Given the description of an element on the screen output the (x, y) to click on. 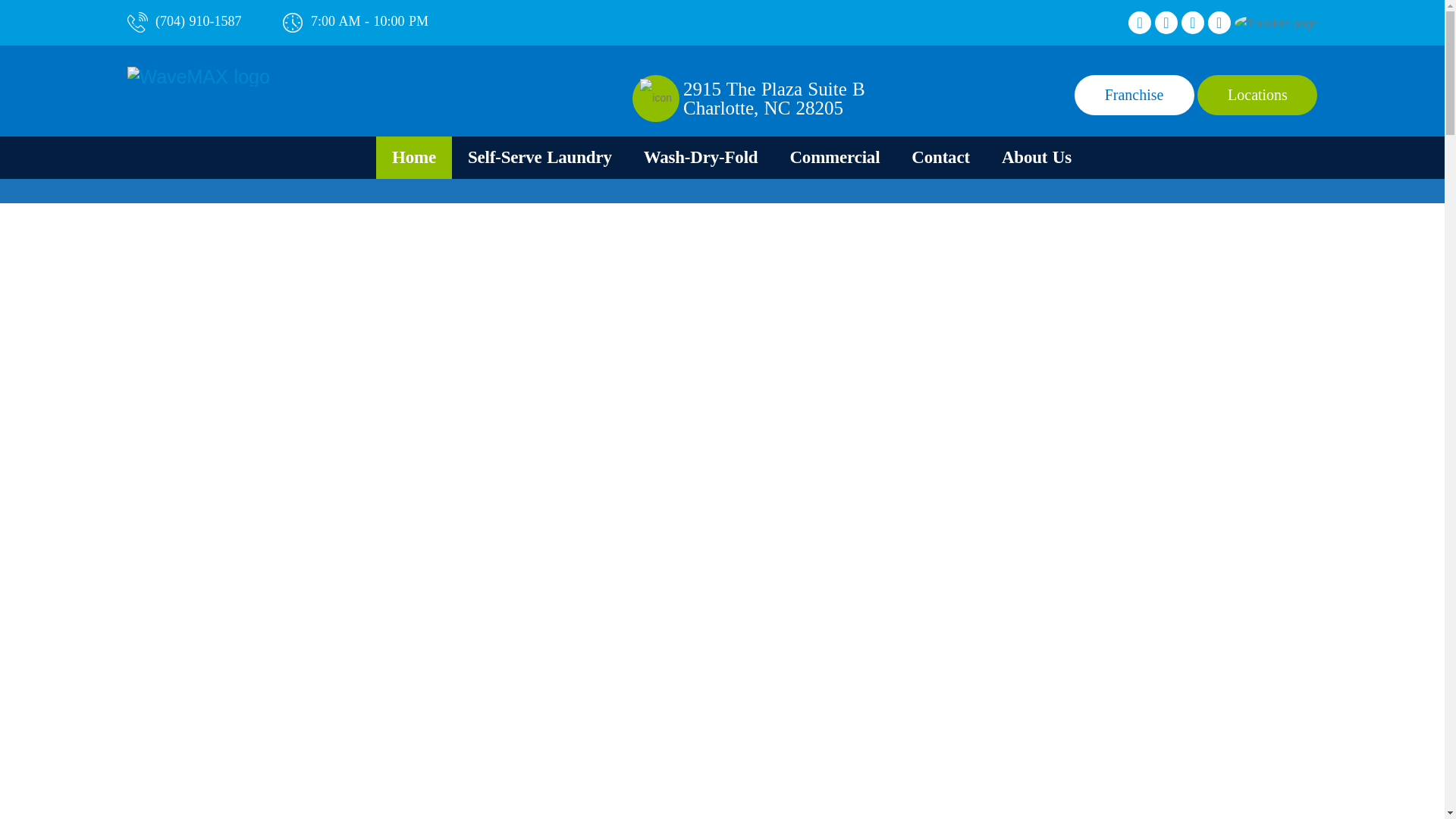
Link to Google My Business (1192, 22)
Wash-Dry-Fold (700, 157)
Link to Instagram (1165, 22)
Link to Facebook (1139, 22)
Commercial (834, 157)
Contact (940, 157)
Self-Serve Laundry (539, 157)
Locations (1256, 95)
About Us (1036, 157)
Franchise (1133, 95)
